Given the description of an element on the screen output the (x, y) to click on. 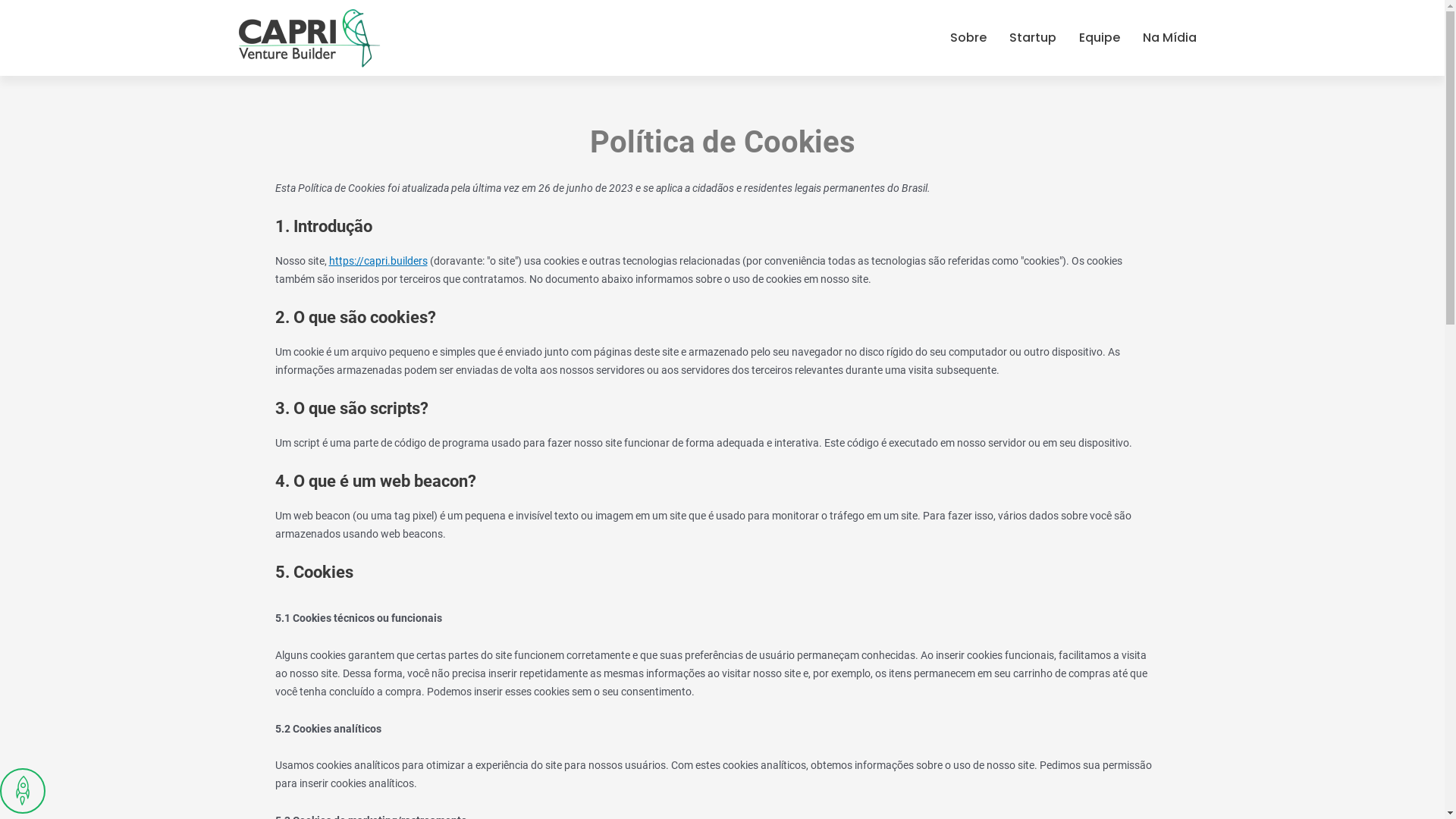
Equipe Element type: text (1099, 37)
https://capri.builders Element type: text (378, 260)
Sobre Element type: text (967, 37)
Startup Element type: text (1032, 37)
